Given the description of an element on the screen output the (x, y) to click on. 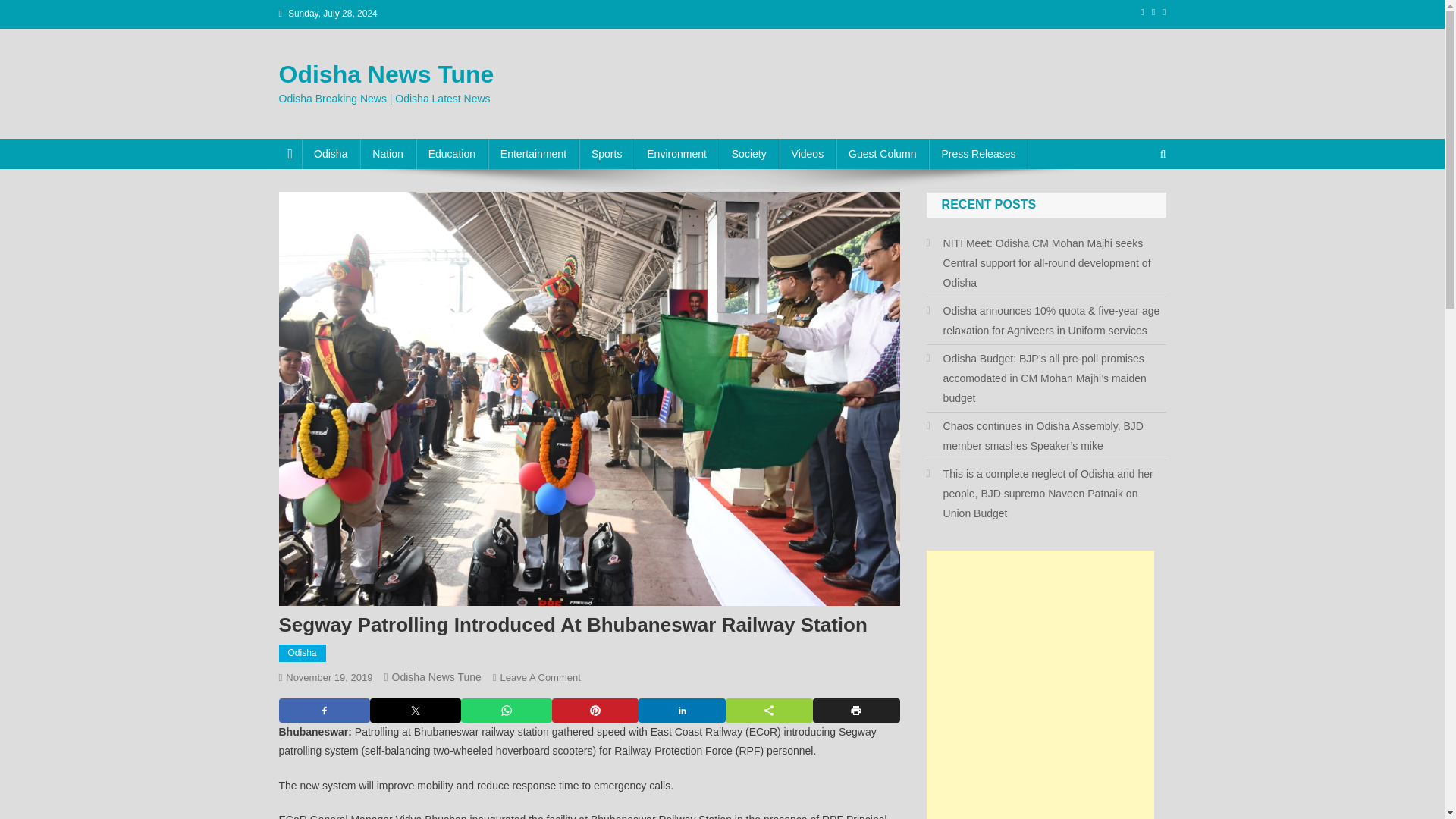
Videos (806, 153)
Guest Column (881, 153)
Environment (676, 153)
Search (1133, 204)
Odisha News Tune (387, 73)
Odisha News Tune (436, 676)
Entertainment (532, 153)
Sports (606, 153)
Education (451, 153)
November 19, 2019 (328, 677)
Society (748, 153)
Nation (386, 153)
Advertisement (1040, 684)
Odisha (302, 653)
